Given the description of an element on the screen output the (x, y) to click on. 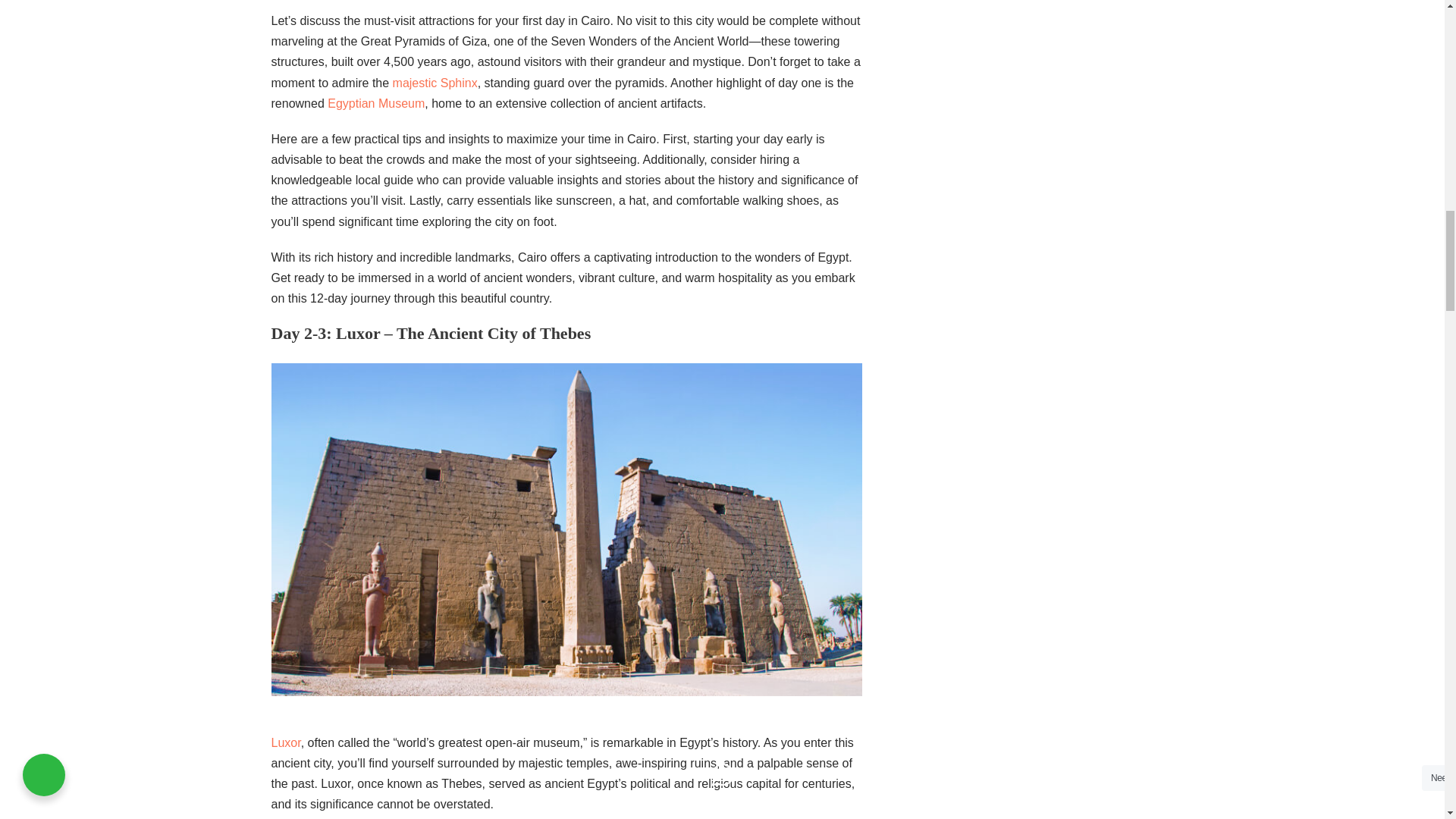
Egyptian Museum (376, 103)
majestic Sphinx (435, 82)
Luxor (285, 742)
